Given the description of an element on the screen output the (x, y) to click on. 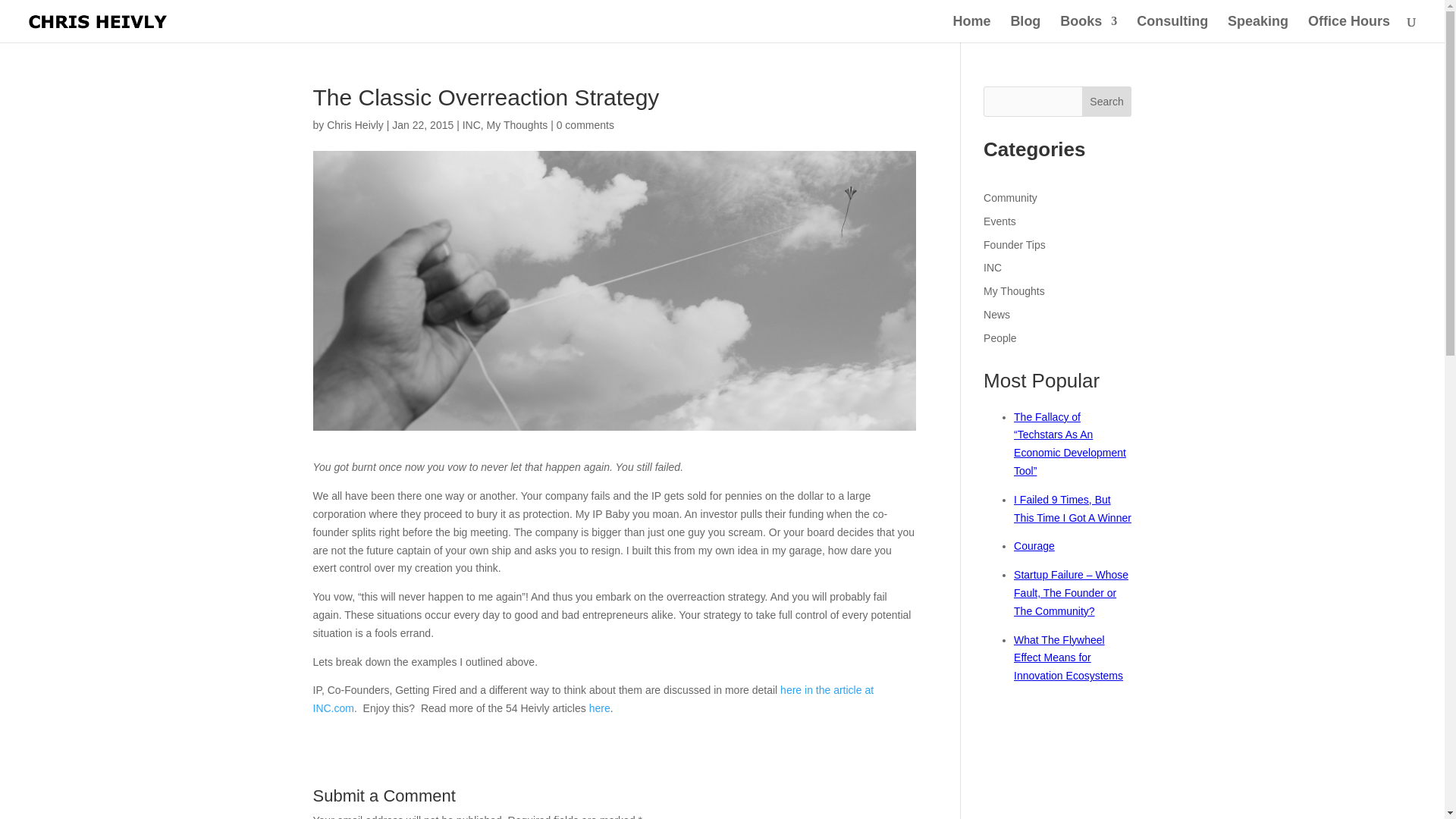
Events (1000, 221)
Home (971, 28)
Office Hours (1348, 28)
Speaking (1257, 28)
My Thoughts (1014, 291)
Search (1106, 101)
INC (471, 124)
here in the article at INC.com (593, 698)
0 comments (585, 124)
My Thoughts (517, 124)
